Given the description of an element on the screen output the (x, y) to click on. 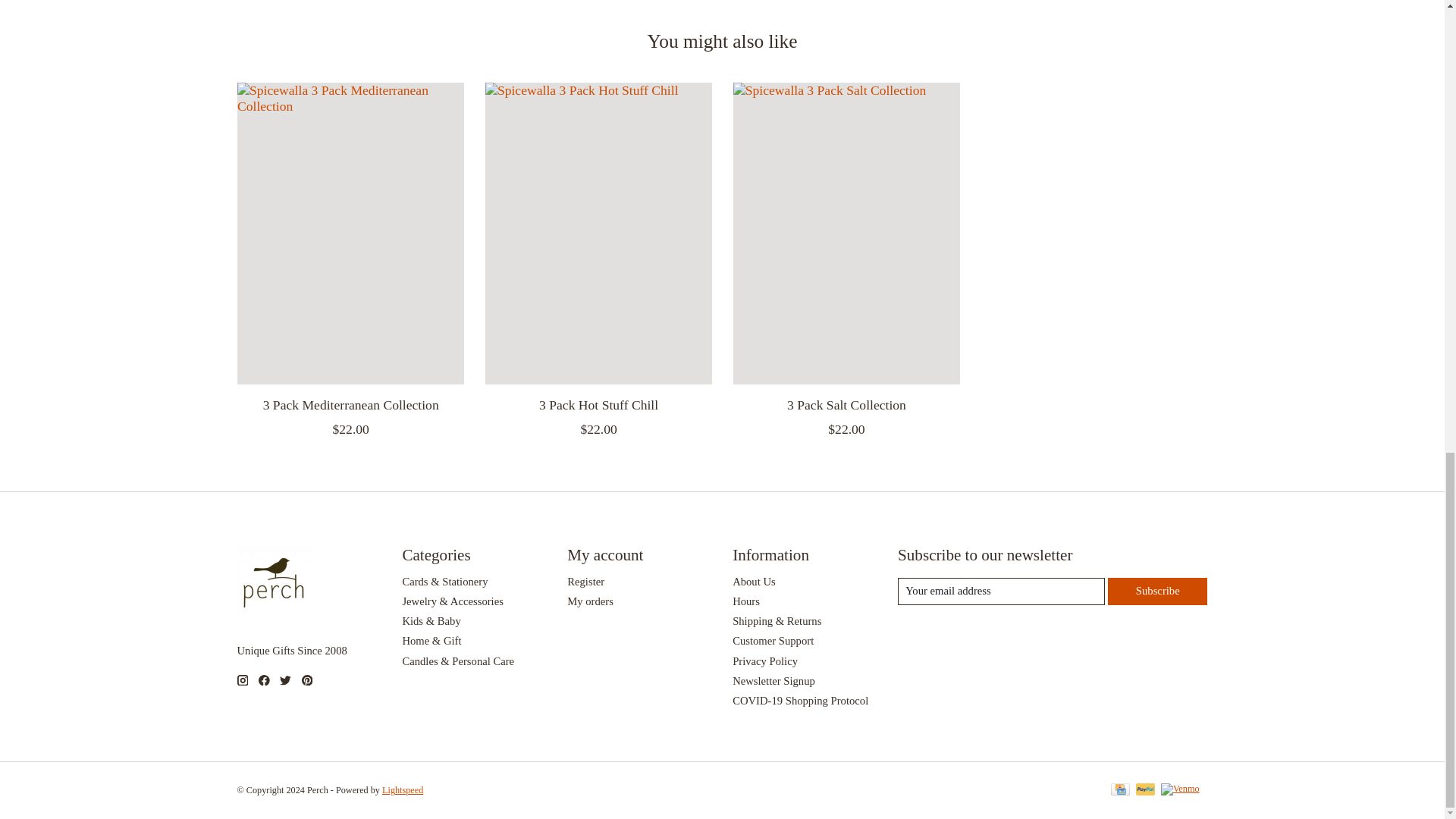
Customer Support (772, 640)
COVID-19 Shopping Protocol (799, 700)
Hours (746, 601)
My orders (589, 601)
About Us (754, 581)
Privacy Policy (764, 661)
Newsletter Signup  (773, 680)
Register (585, 581)
